Given the description of an element on the screen output the (x, y) to click on. 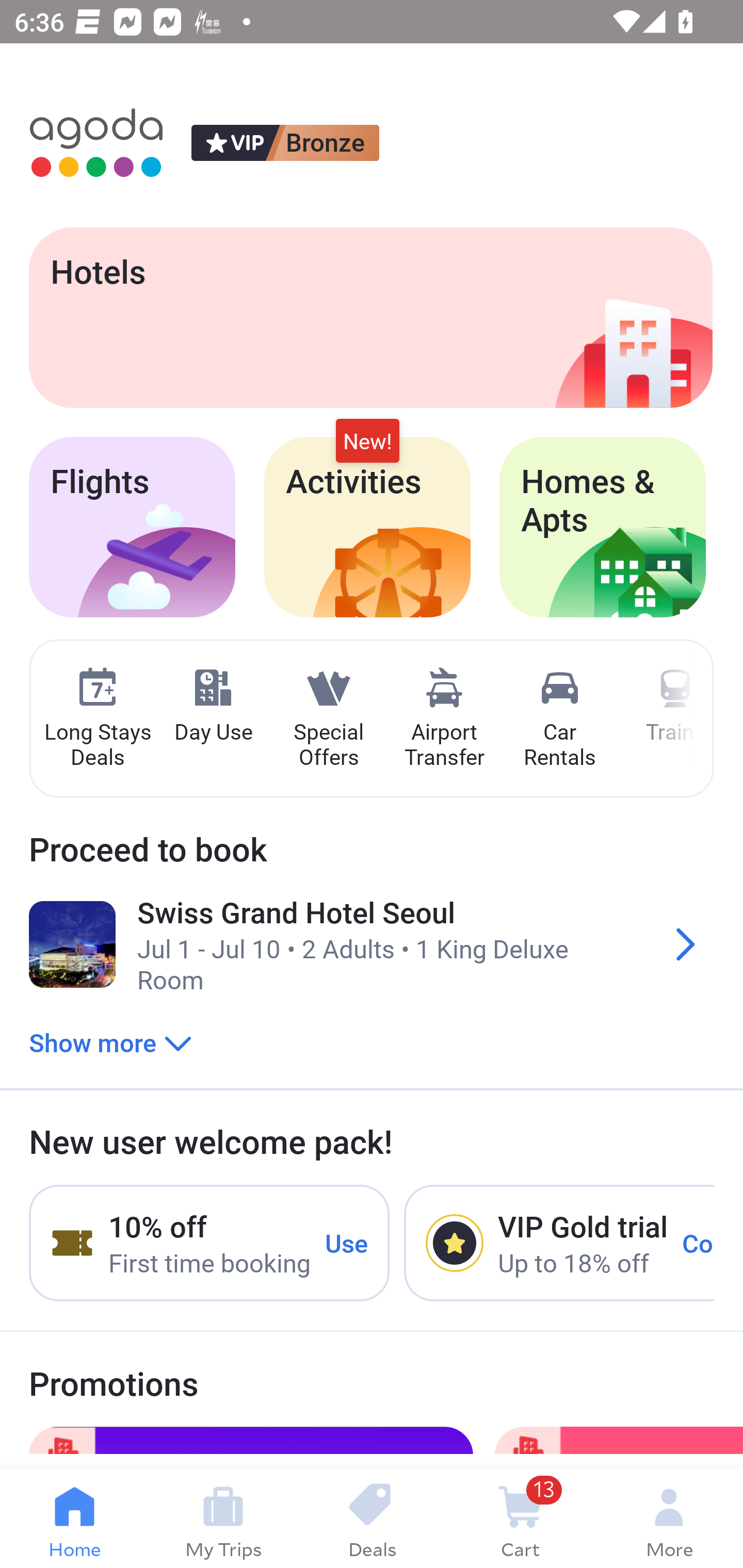
Hotels (370, 317)
New! (367, 441)
Flights (131, 527)
Activities (367, 527)
Homes & Apts (602, 527)
Day Use (213, 706)
Long Stays Deals (97, 718)
Special Offers (328, 718)
Airport Transfer (444, 718)
Car Rentals (559, 718)
Show more (110, 1041)
Use (346, 1242)
Home (74, 1518)
My Trips (222, 1518)
Deals (371, 1518)
13 Cart (519, 1518)
More (668, 1518)
